Given the description of an element on the screen output the (x, y) to click on. 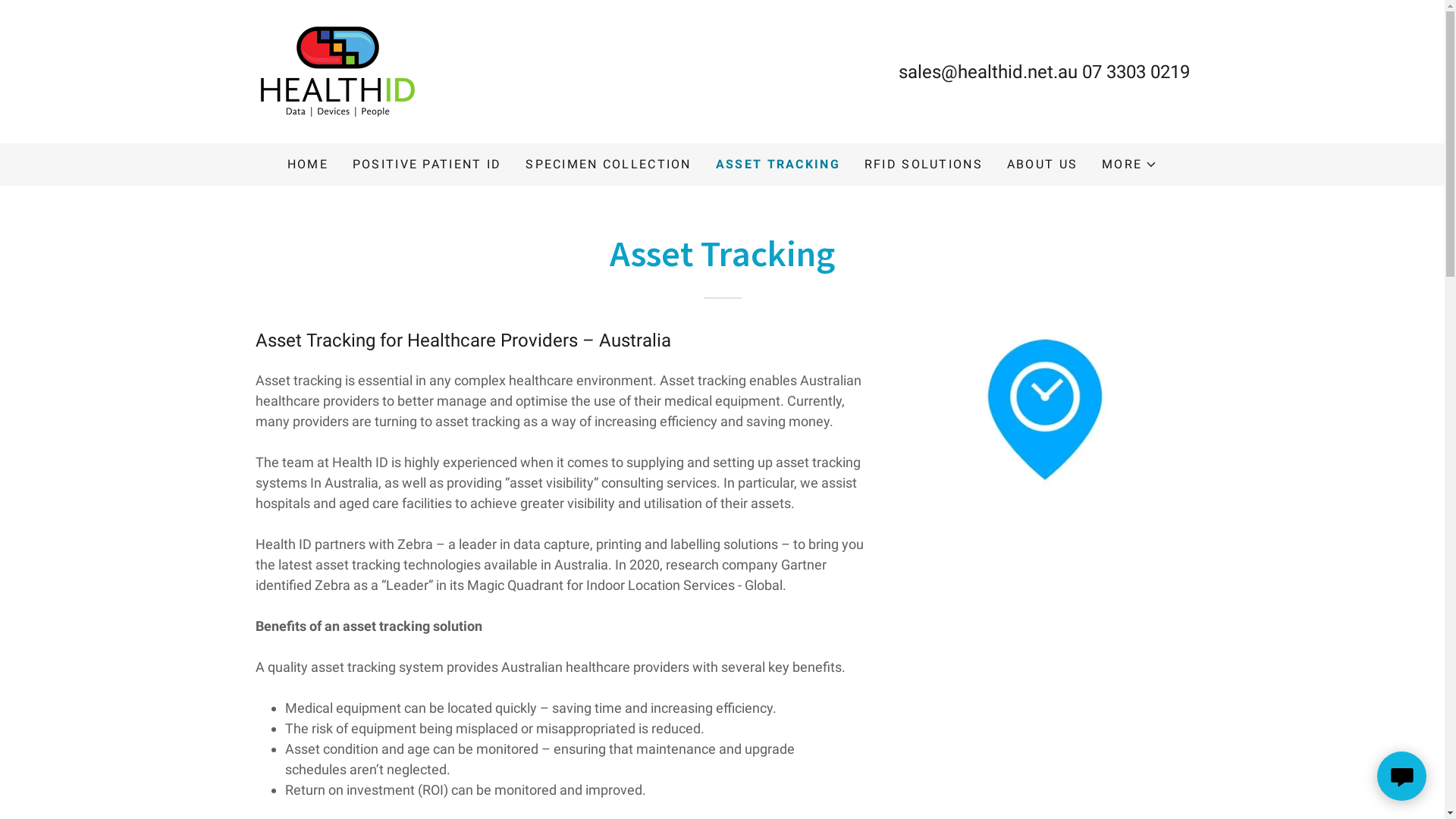
ASSET TRACKING Element type: text (777, 164)
HOME Element type: text (307, 164)
RFID SOLUTIONS Element type: text (923, 164)
sales@healthid.net.au Element type: text (986, 70)
POSITIVE PATIENT ID Element type: text (426, 164)
07 3303 0219 Element type: text (1135, 70)
SPECIMEN COLLECTION Element type: text (607, 164)
ABOUT US Element type: text (1042, 164)
Health ID Element type: hover (336, 70)
MORE Element type: text (1129, 164)
